Given the description of an element on the screen output the (x, y) to click on. 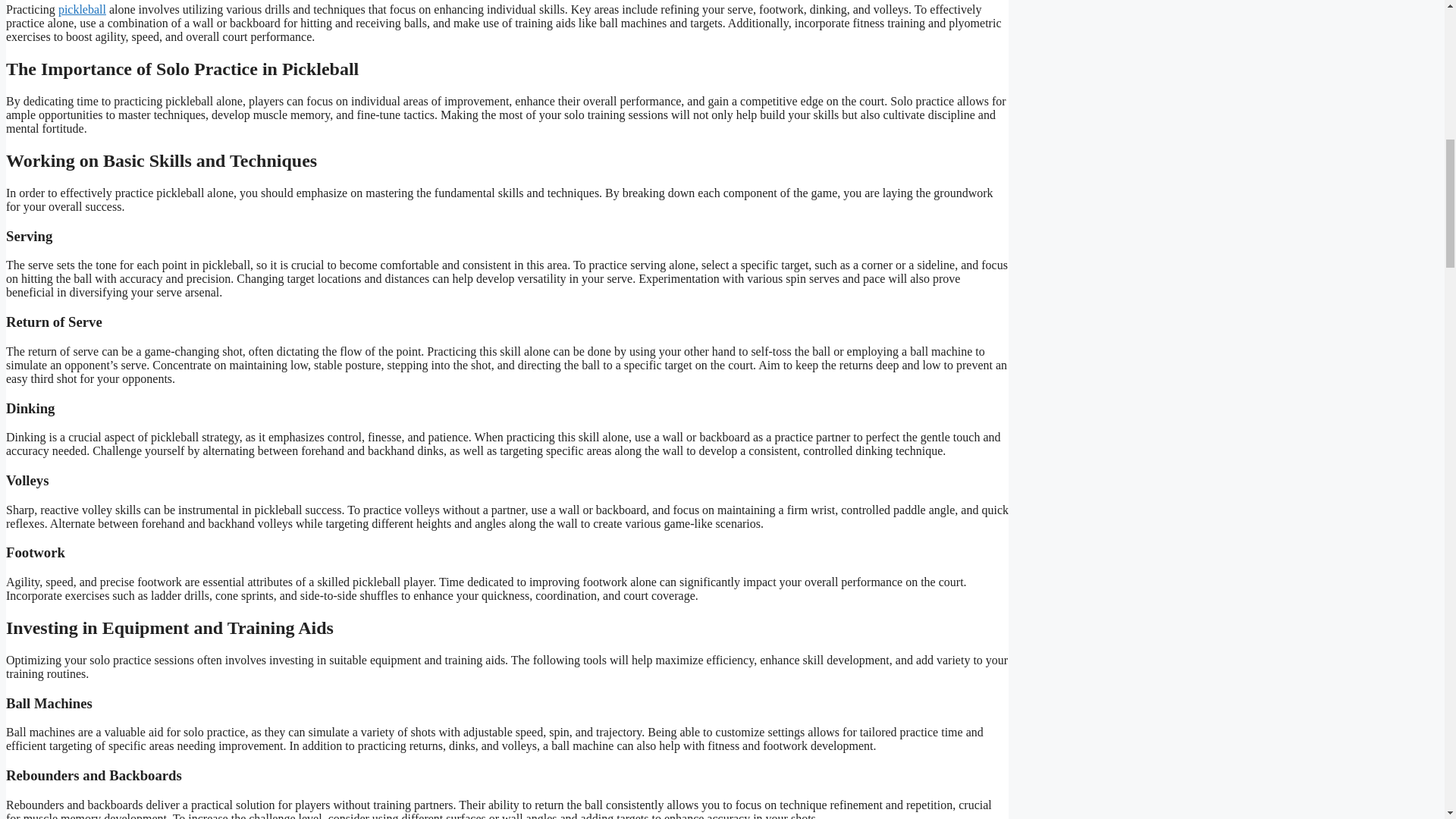
pickleball (82, 9)
pickleball (82, 9)
